Given the description of an element on the screen output the (x, y) to click on. 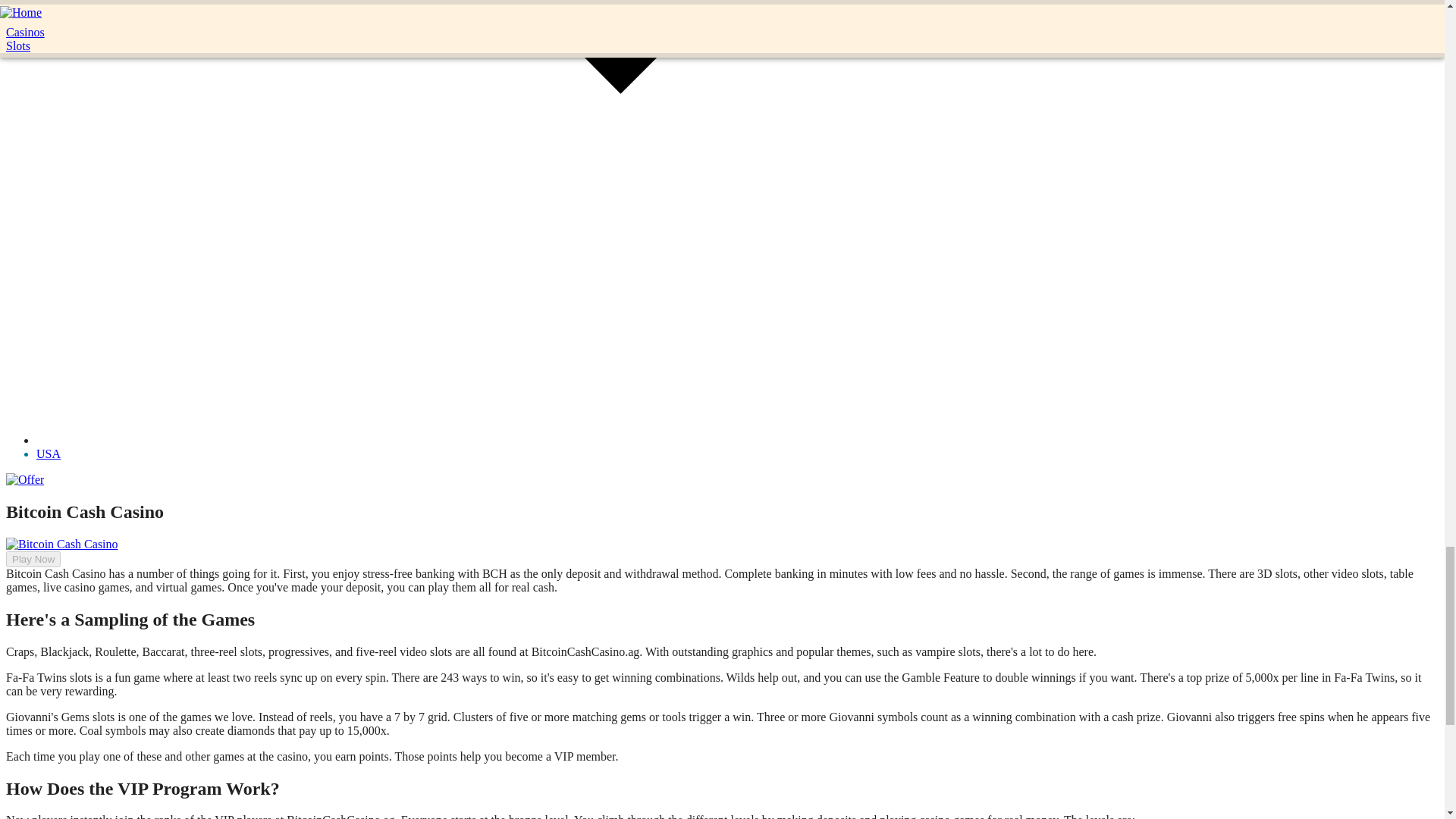
Play Now (33, 559)
USA (48, 453)
